Given the description of an element on the screen output the (x, y) to click on. 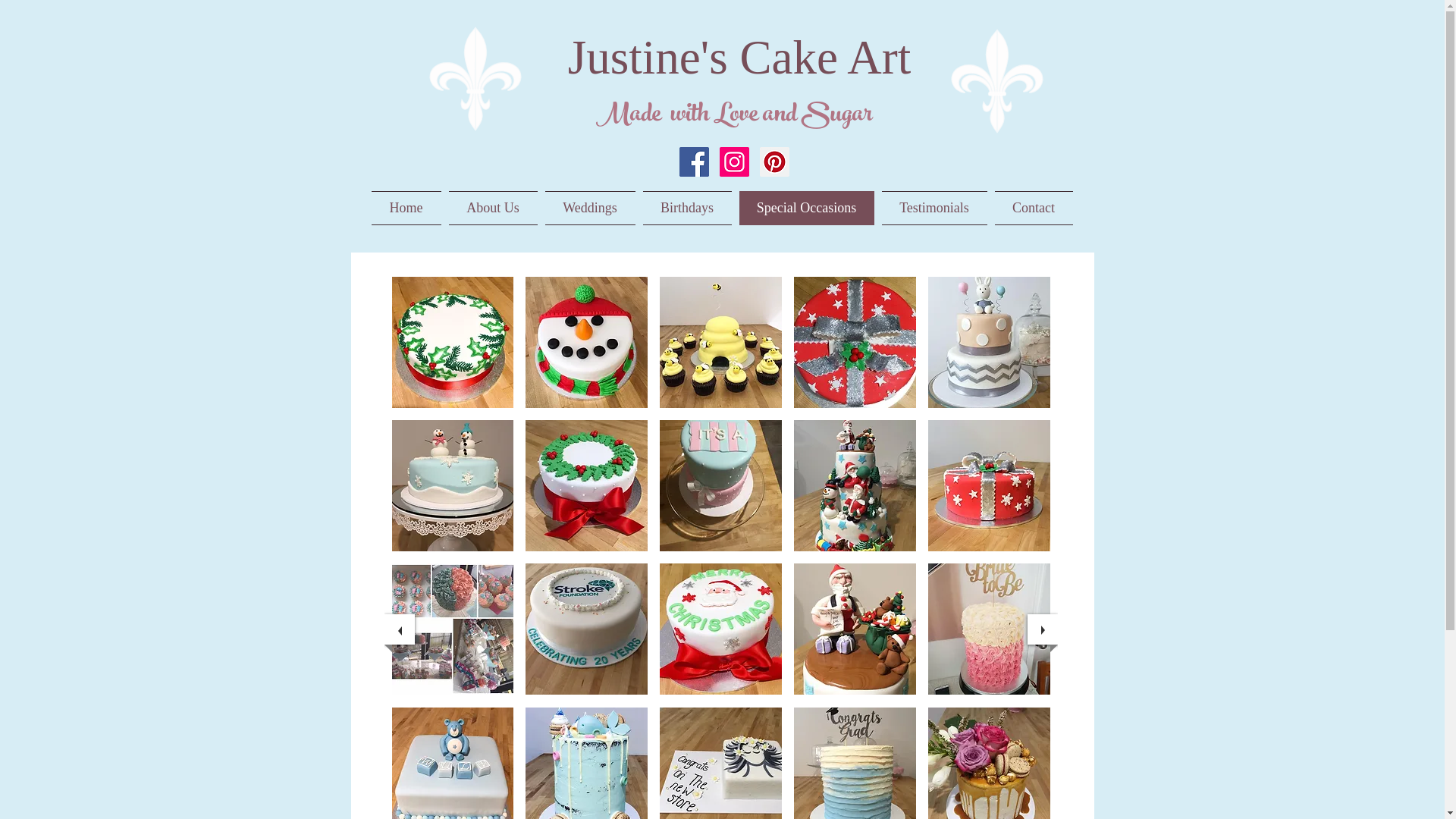
Weddings Element type: text (590, 208)
Birthdays Element type: text (686, 208)
Special Occasions Element type: text (806, 208)
About Us Element type: text (492, 208)
Contact Element type: text (1031, 208)
Testimonials Element type: text (934, 208)
Home Element type: text (408, 208)
